Given the description of an element on the screen output the (x, y) to click on. 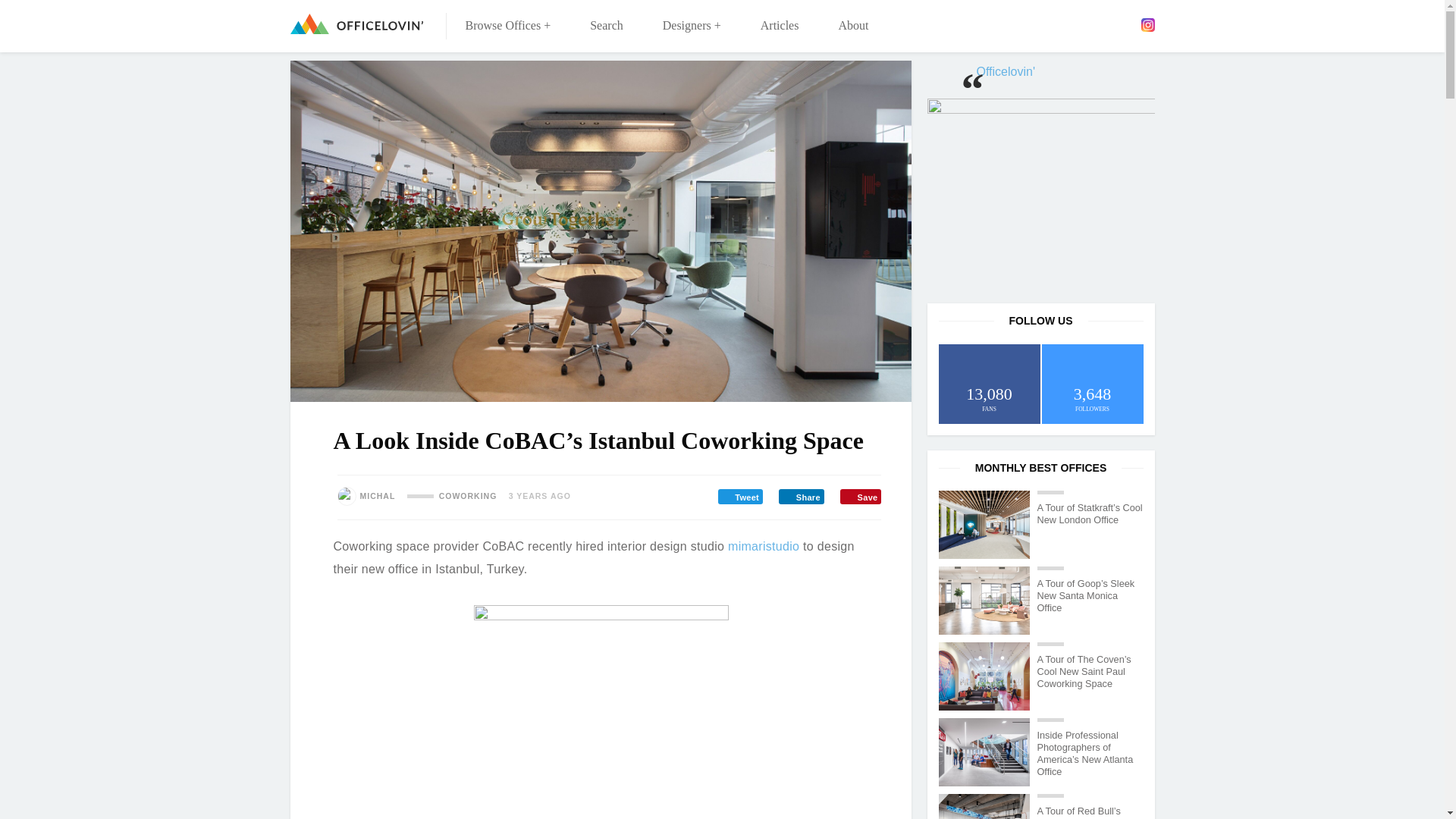
Officelovin on Instagram (1147, 24)
Search (606, 25)
Officelovin on Facebook (1058, 24)
Officelovin on Twitter (1082, 24)
Share link on Pinterest (860, 496)
Share link on Twitter (739, 496)
Officelovin on Pinterest (1125, 24)
Officelovin on LinkedIn (1102, 24)
Share link on LinkedIn (801, 496)
